Given the description of an element on the screen output the (x, y) to click on. 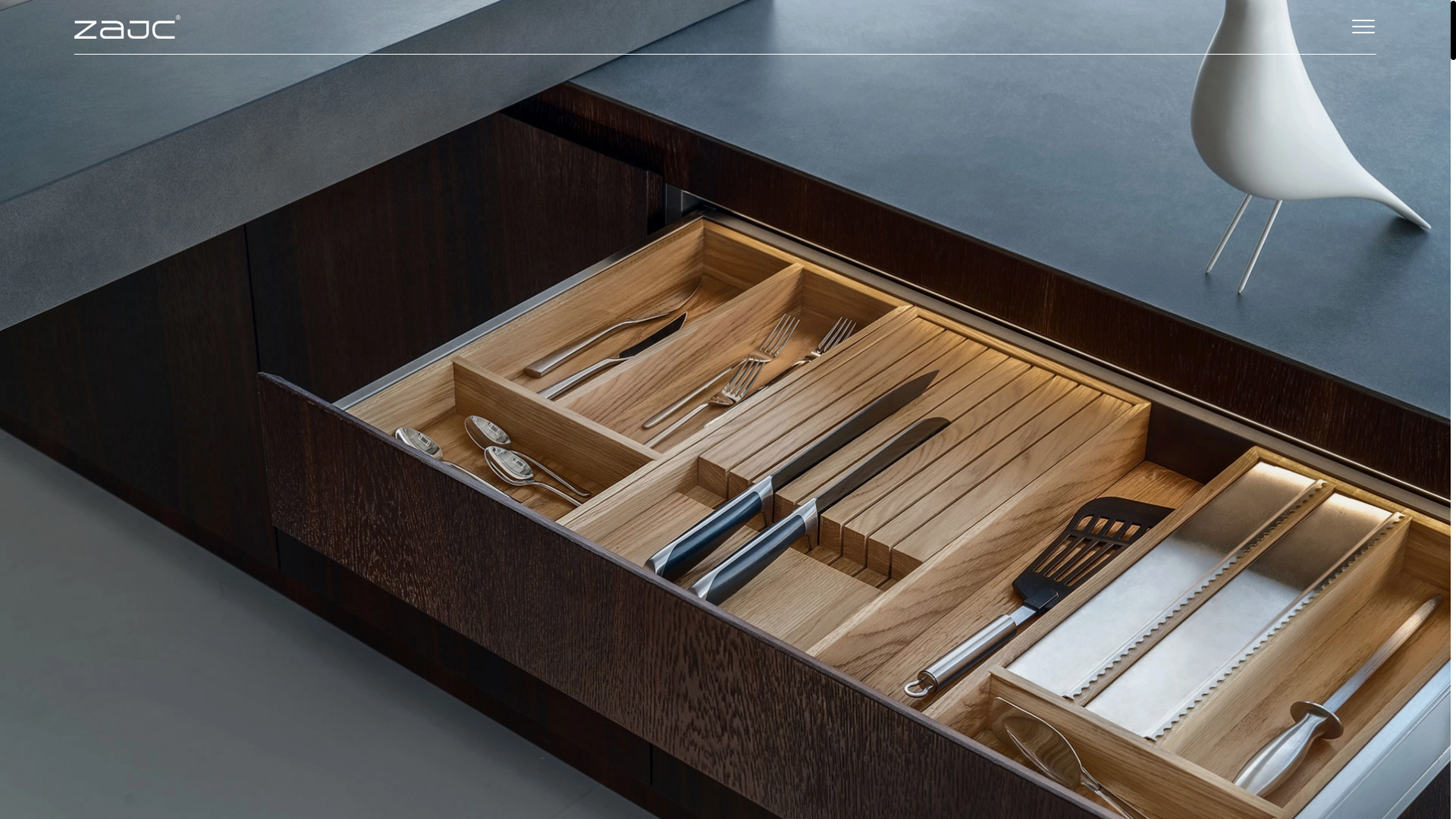
Zajc - Tell us what you like in the kitchen (127, 26)
Menu (1363, 26)
